Given the description of an element on the screen output the (x, y) to click on. 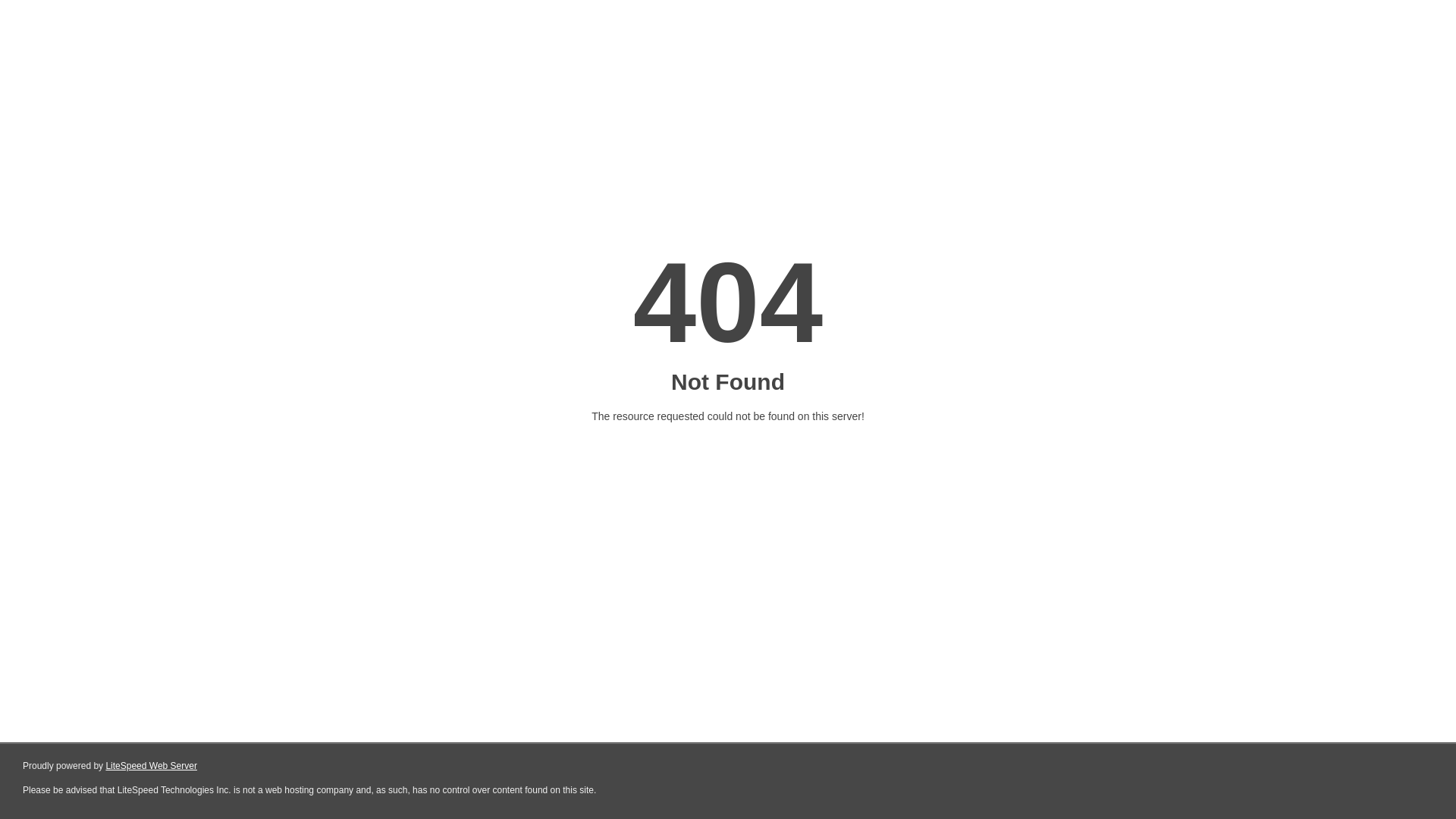
LiteSpeed Web Server Element type: text (151, 765)
